Given the description of an element on the screen output the (x, y) to click on. 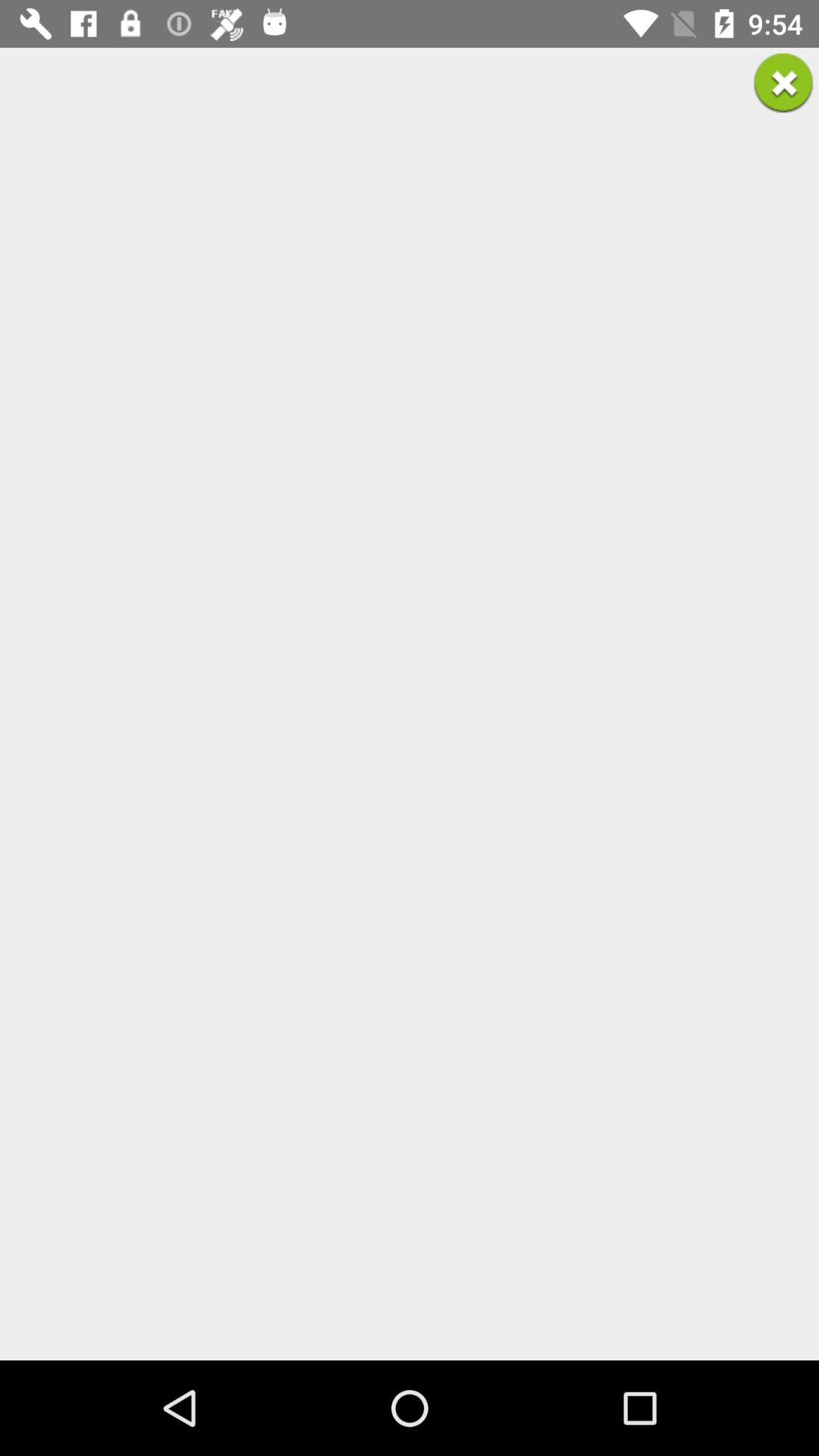
close screen (783, 83)
